Given the description of an element on the screen output the (x, y) to click on. 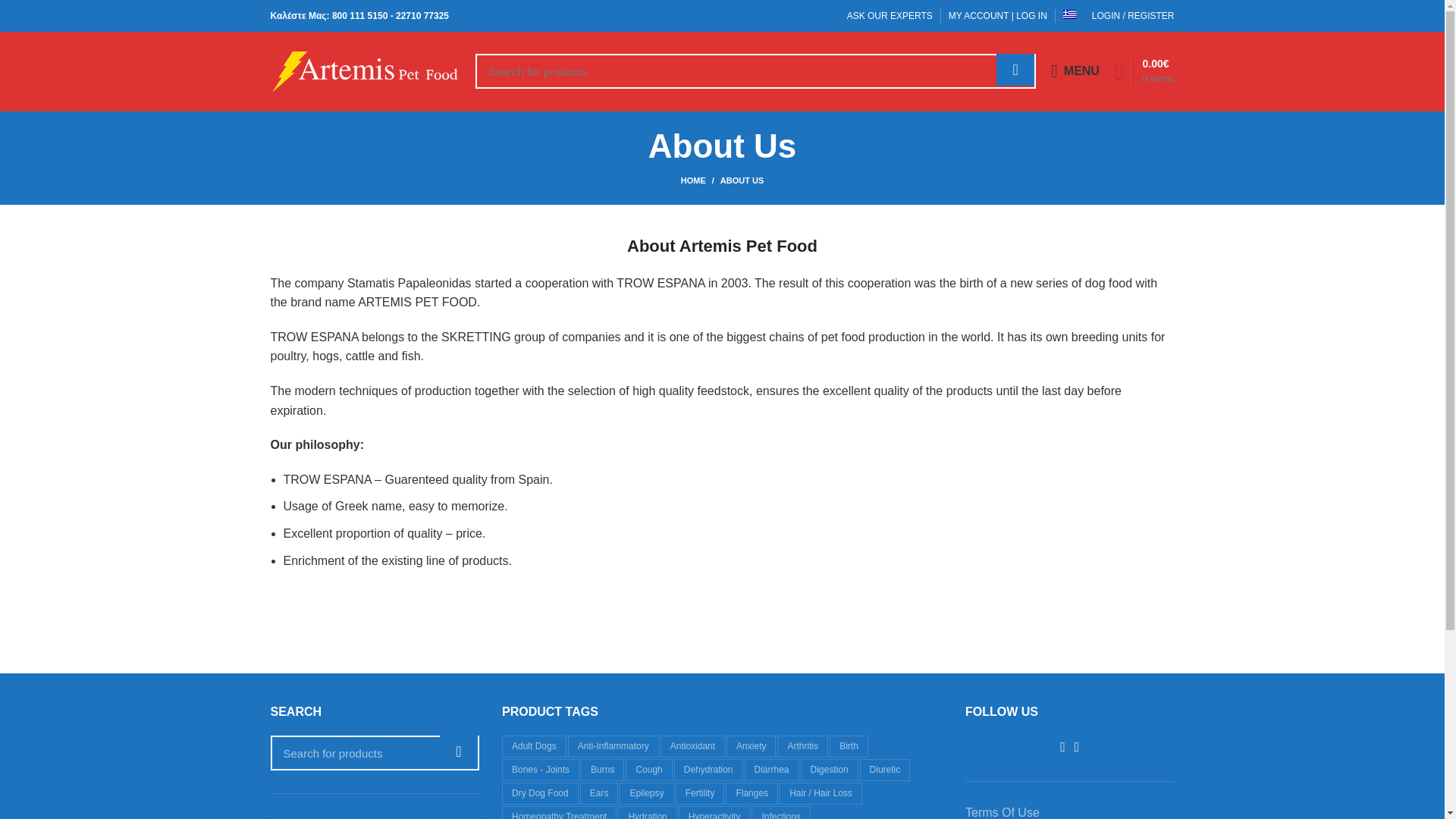
Search for products (374, 752)
Flanges (751, 793)
Diarrhea (771, 770)
Dry Dog Food (540, 793)
Cough (648, 770)
MENU (1074, 71)
SEARCH (458, 751)
Ears (598, 793)
Digestion (829, 770)
Log in (1049, 249)
